Given the description of an element on the screen output the (x, y) to click on. 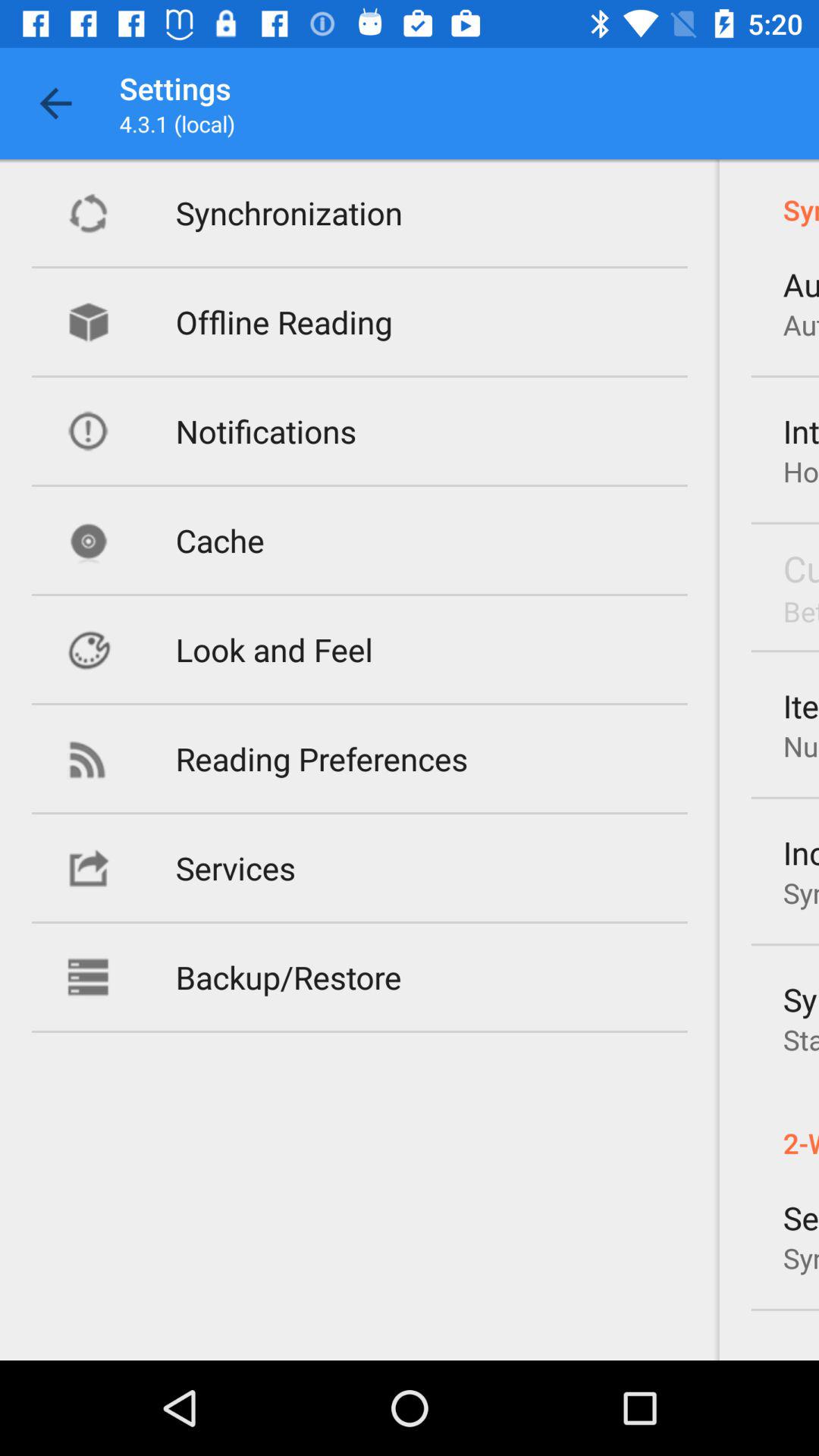
select auto update item (801, 283)
